Given the description of an element on the screen output the (x, y) to click on. 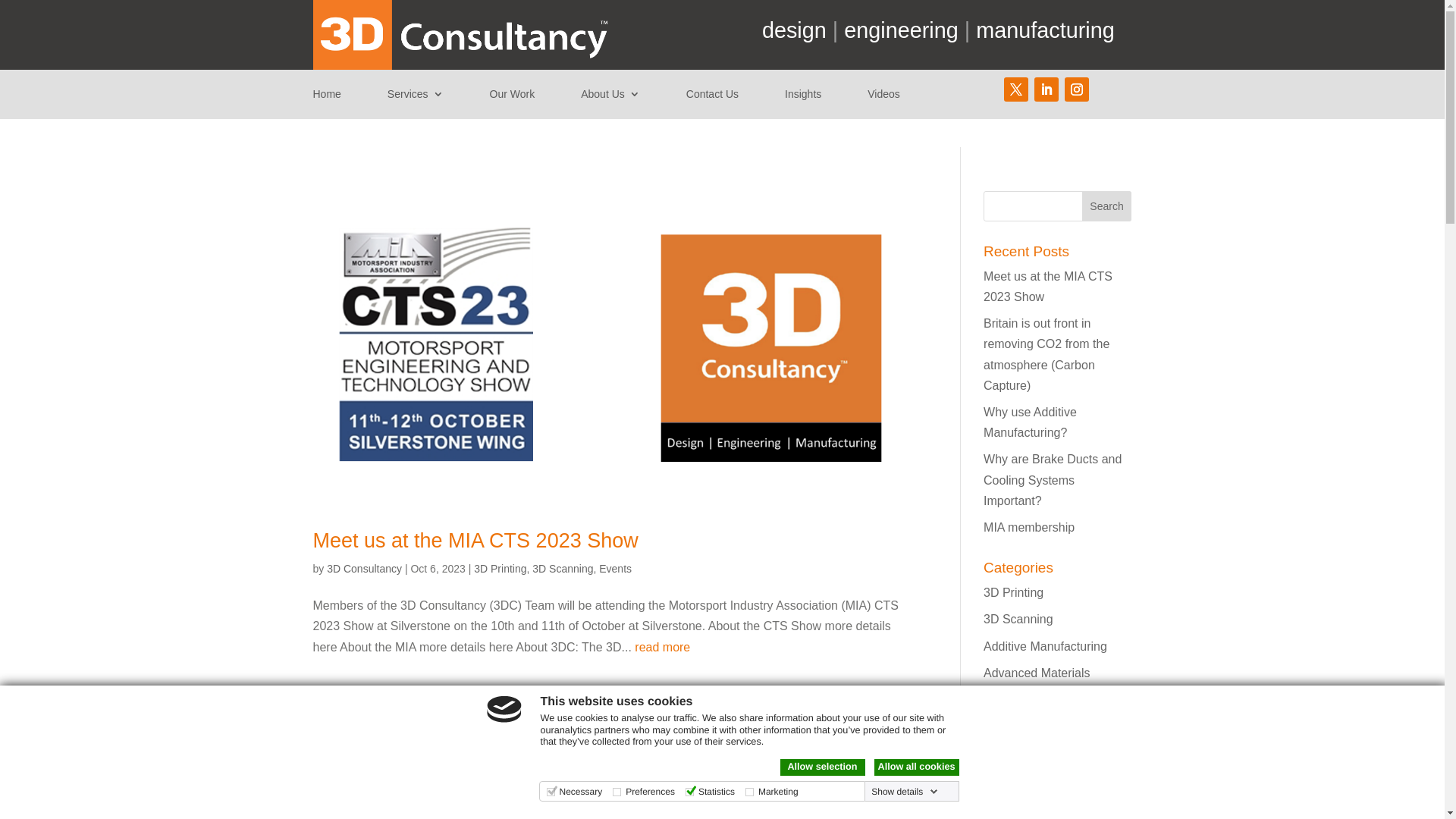
3D Printing Element type: text (1013, 592)
Follow on LinkedIn Element type: hover (1046, 89)
MIA membership Element type: text (1028, 526)
read more Element type: text (662, 646)
Videos Element type: text (883, 96)
Our Work Element type: text (512, 96)
Why use Additive Manufacturing? Element type: text (1029, 422)
Contact Us Element type: text (712, 96)
Advanced Materials Element type: text (1036, 672)
Why are Brake Ducts and Cooling Systems Important? Element type: text (1052, 479)
Advisory and Training Services Element type: text (1041, 709)
Allow selection Element type: text (821, 767)
Follow on X Element type: hover (1016, 89)
3D Printing Element type: text (499, 568)
Meet us at the MIA CTS 2023 Show Element type: text (1047, 286)
Home Element type: text (326, 96)
Additive Manufacturing Element type: text (1045, 646)
Allow all cookies Element type: text (915, 767)
Composites Element type: text (1015, 772)
Insights Element type: text (802, 96)
Economy Element type: text (1008, 799)
3D Scanning Element type: text (562, 568)
Search Element type: text (1107, 206)
3D Consultancy Element type: text (363, 568)
3D Scanning Element type: text (1018, 618)
About Us Element type: text (610, 96)
Follow on Instagram Element type: hover (1076, 89)
Events Element type: text (615, 568)
Services Element type: text (415, 96)
Meet us at the MIA CTS 2023 Show Element type: text (474, 540)
Show details Element type: text (904, 791)
Composite Materials Element type: text (1038, 746)
